Given the description of an element on the screen output the (x, y) to click on. 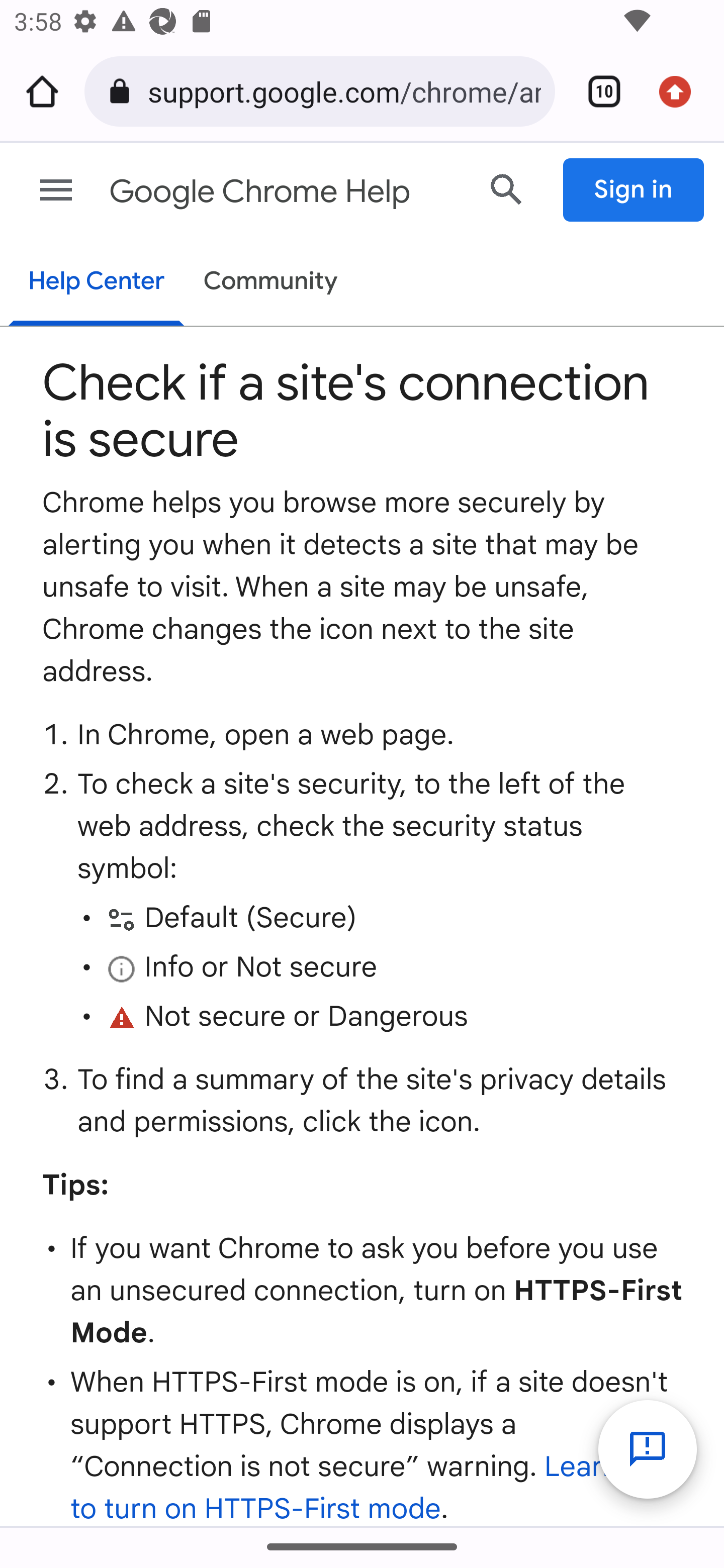
Home (42, 91)
Connection is secure (122, 91)
Switch or close tabs (597, 91)
Update available. More options (681, 91)
Main menu (56, 190)
Google Chrome Help (285, 191)
Search Help Center (506, 189)
Sign in (634, 190)
Help Center (95, 283)
Community (271, 281)
Learn how to turn on HTTPS-First mode (375, 1487)
